Given the description of an element on the screen output the (x, y) to click on. 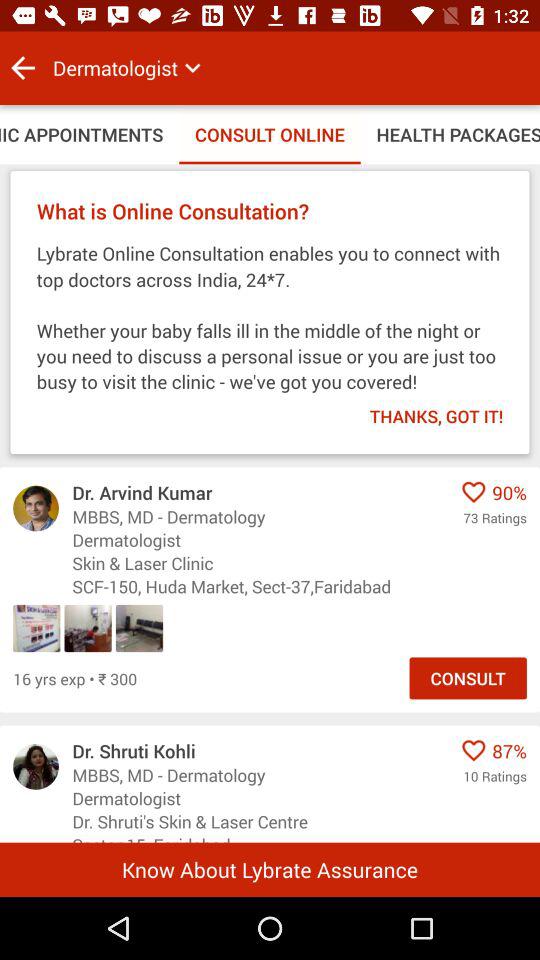
go back (23, 68)
